Given the description of an element on the screen output the (x, y) to click on. 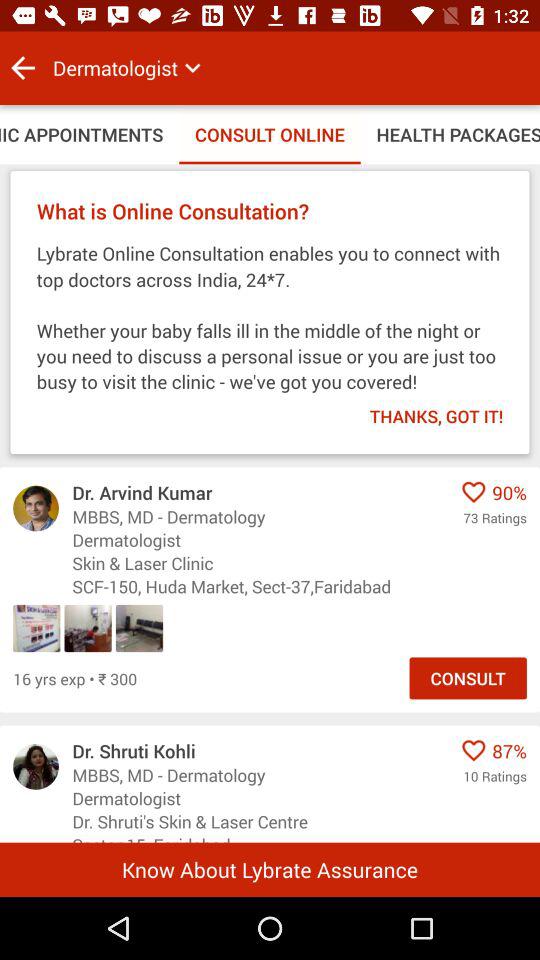
go back (23, 68)
